Given the description of an element on the screen output the (x, y) to click on. 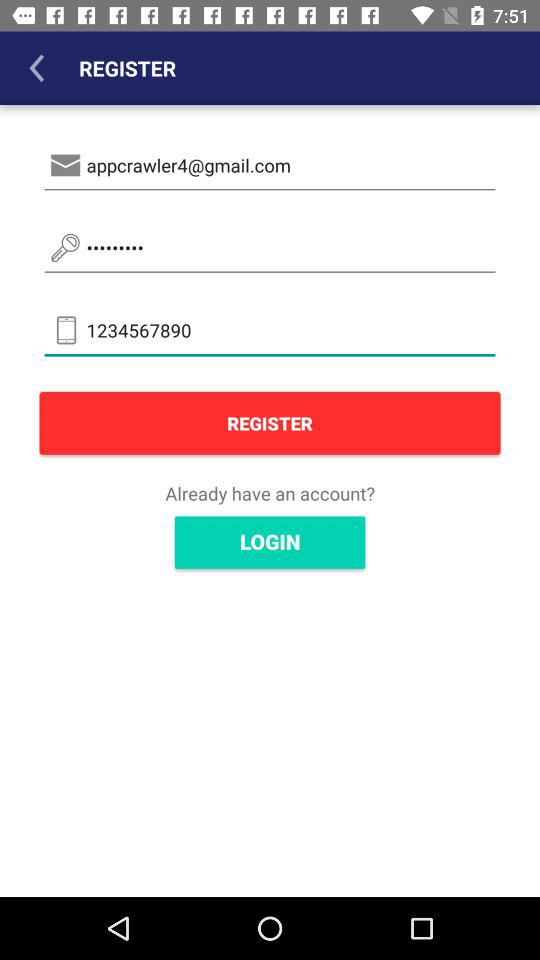
turn off the item above the crowd3116 item (269, 165)
